Given the description of an element on the screen output the (x, y) to click on. 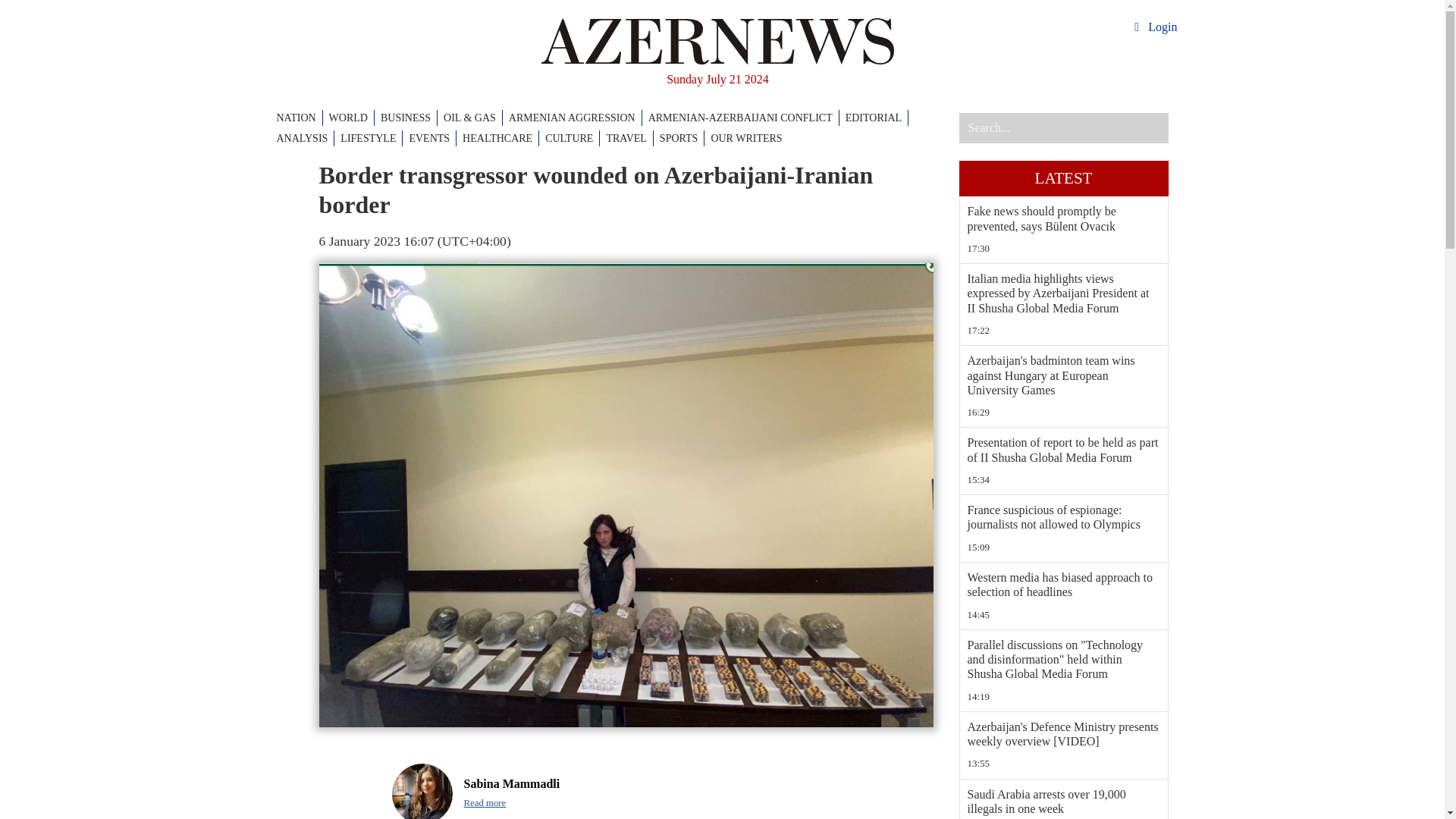
15:34 (1064, 479)
17:30 (1064, 248)
SPORTS (681, 138)
Read more (485, 803)
EVENTS (433, 138)
17:22 (1064, 330)
EDITORIAL (876, 117)
LIFESTYLE (371, 138)
HEALTHCARE (500, 138)
WORLD (351, 117)
BUSINESS (409, 117)
ANALYSIS (305, 138)
